Given the description of an element on the screen output the (x, y) to click on. 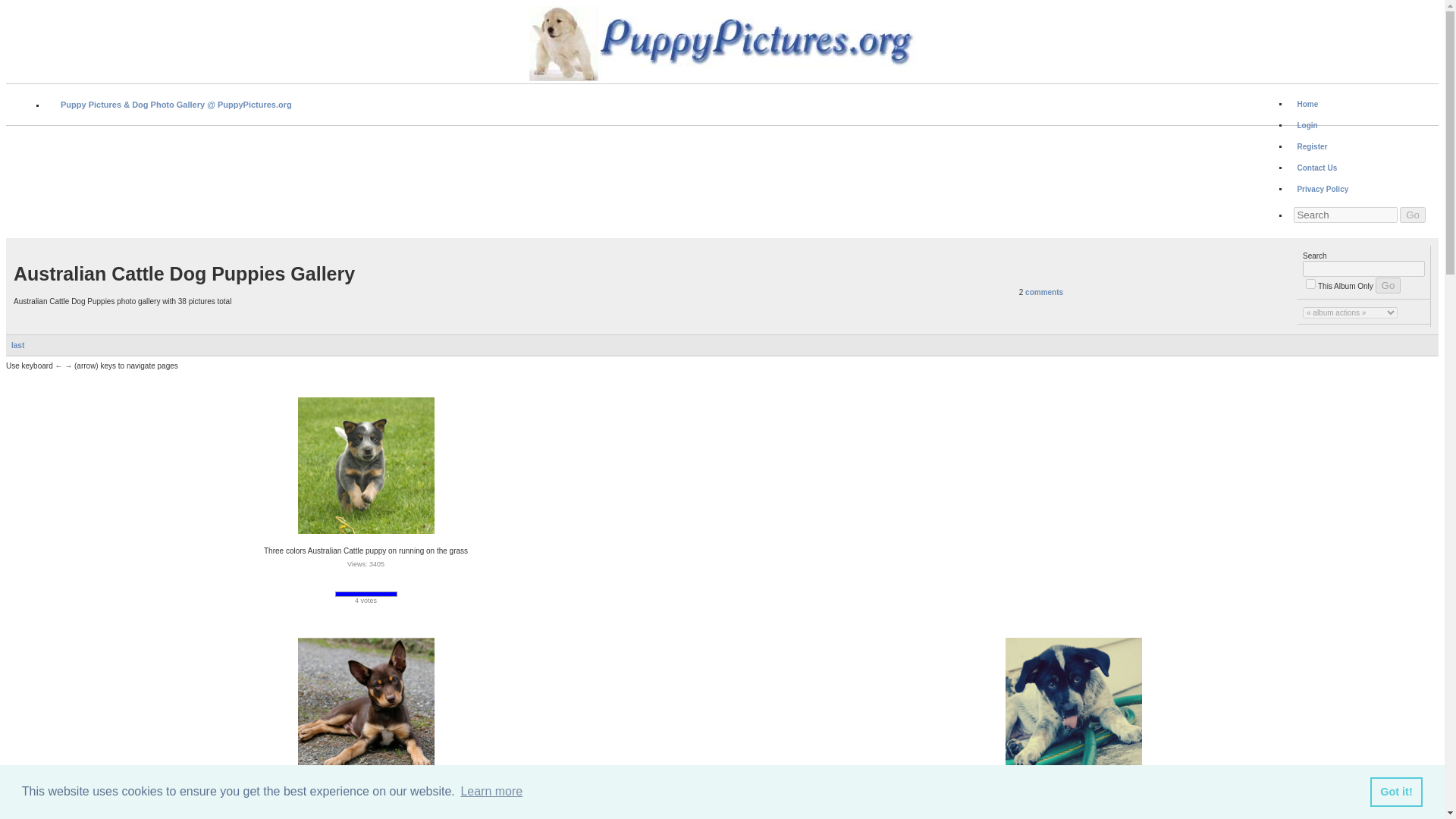
last (28, 345)
1 (1311, 284)
Home (1307, 104)
Privacy Policy (1322, 188)
Click a star to rate this item! (341, 582)
Register (1311, 146)
Go (1412, 214)
Go (1387, 285)
